Given the description of an element on the screen output the (x, y) to click on. 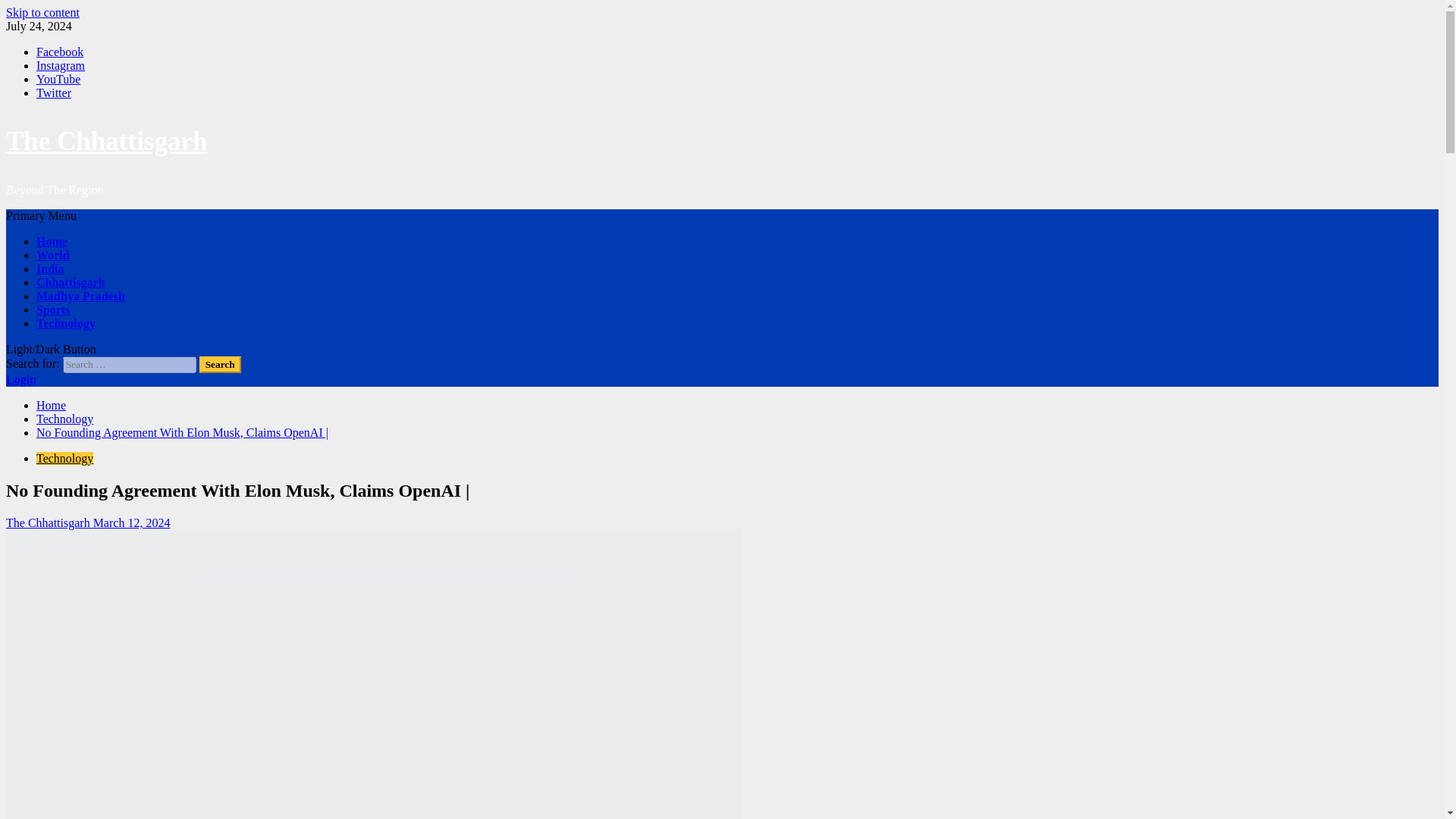
Skip to content (42, 11)
Technology (66, 323)
Twitter (53, 92)
World (52, 254)
March 12, 2024 (131, 522)
Search (220, 364)
Technology (64, 418)
Home (51, 241)
YouTube (58, 78)
Search (220, 364)
Facebook (59, 51)
Search (220, 364)
Sports (52, 309)
The Chhattisgarh (105, 141)
The Chhattisgarh (49, 522)
